Given the description of an element on the screen output the (x, y) to click on. 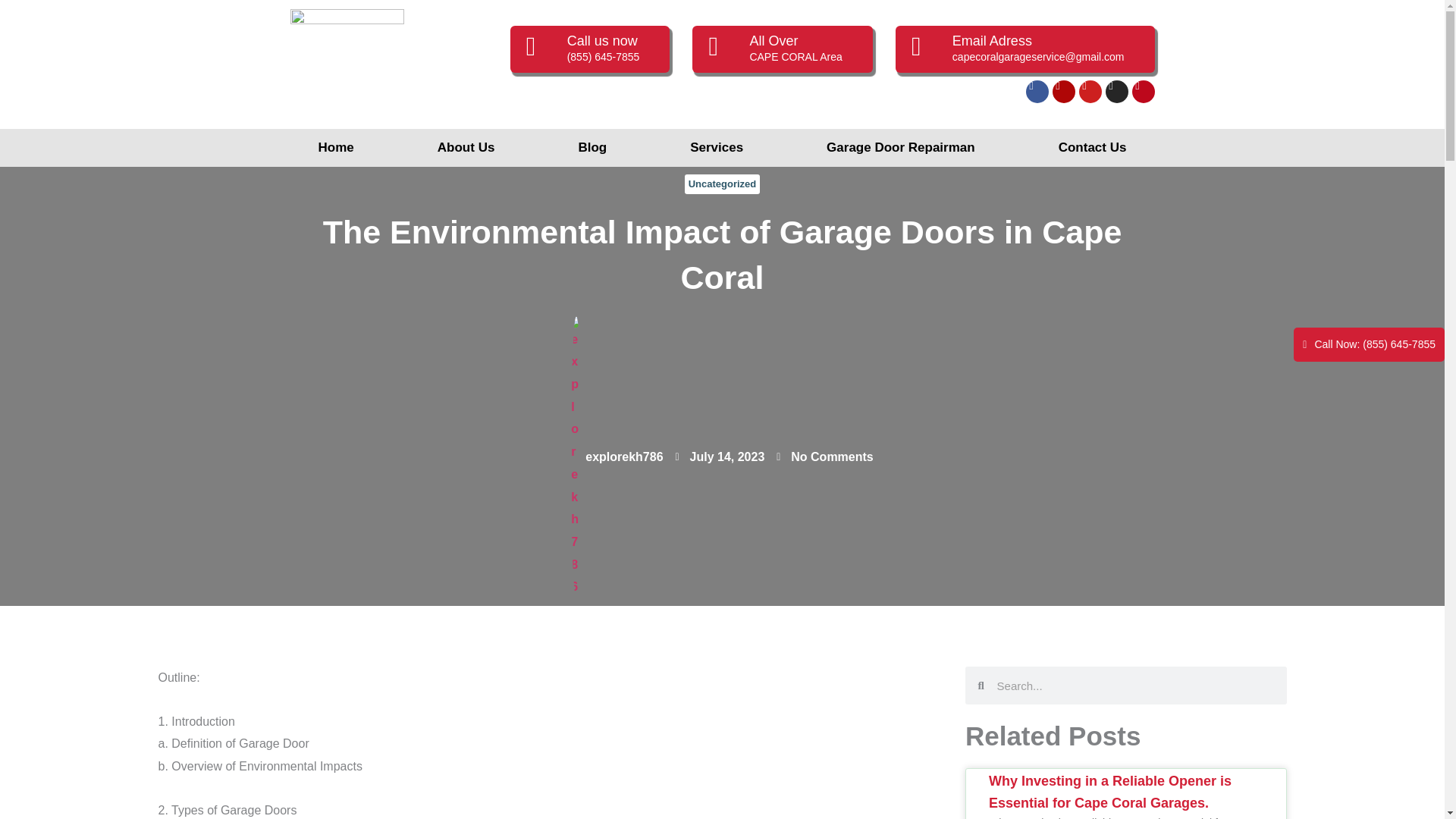
Services (716, 147)
Email Adress (992, 40)
No Comments (824, 456)
Uncategorized (722, 183)
Contact Us (1092, 147)
Blog (591, 147)
Call us now (602, 40)
July 14, 2023 (720, 456)
Home (335, 147)
About Us (466, 147)
